Given the description of an element on the screen output the (x, y) to click on. 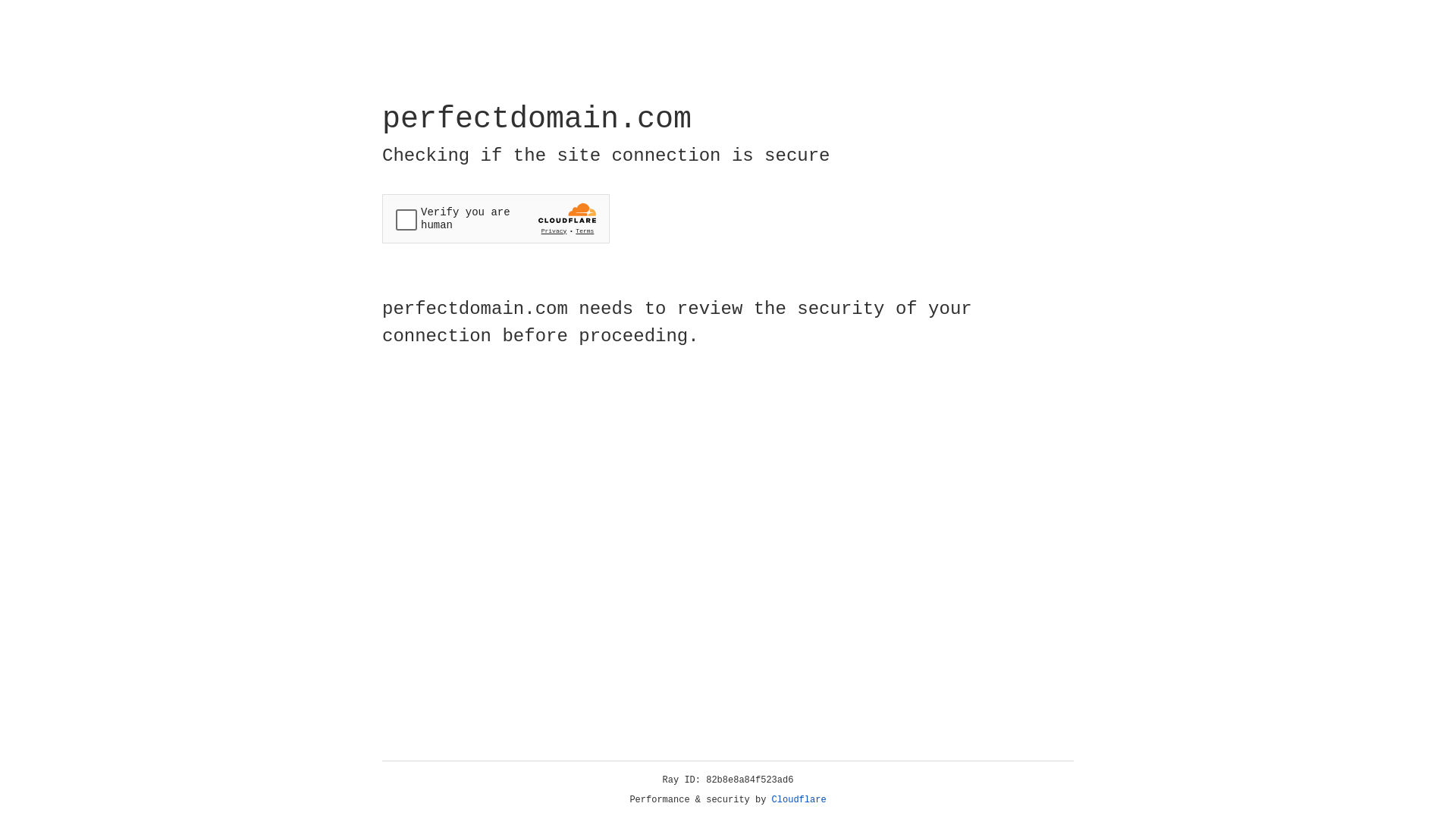
Widget containing a Cloudflare security challenge Element type: hover (495, 218)
Cloudflare Element type: text (798, 799)
